Given the description of an element on the screen output the (x, y) to click on. 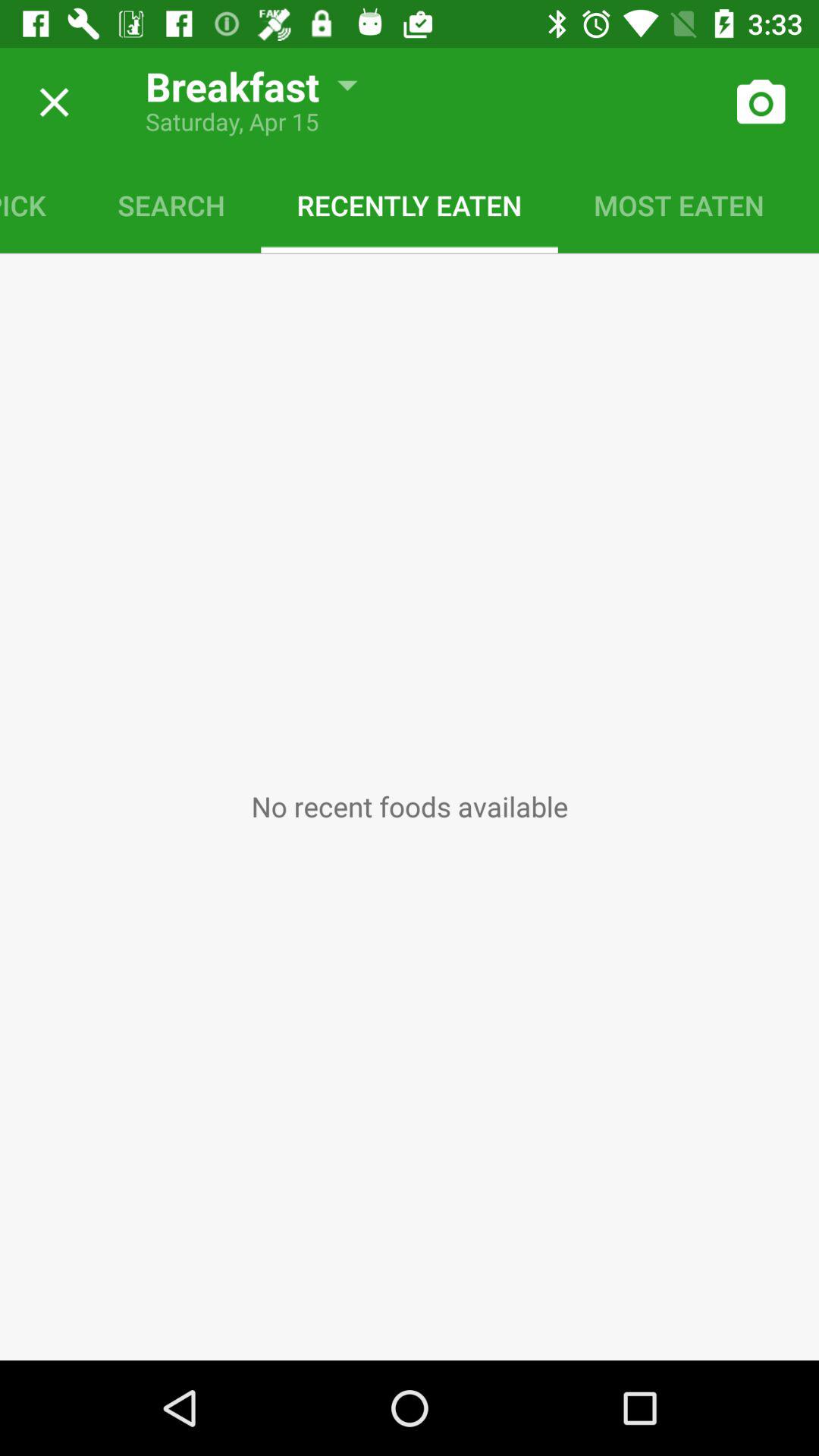
cancel the current entry (48, 102)
